Given the description of an element on the screen output the (x, y) to click on. 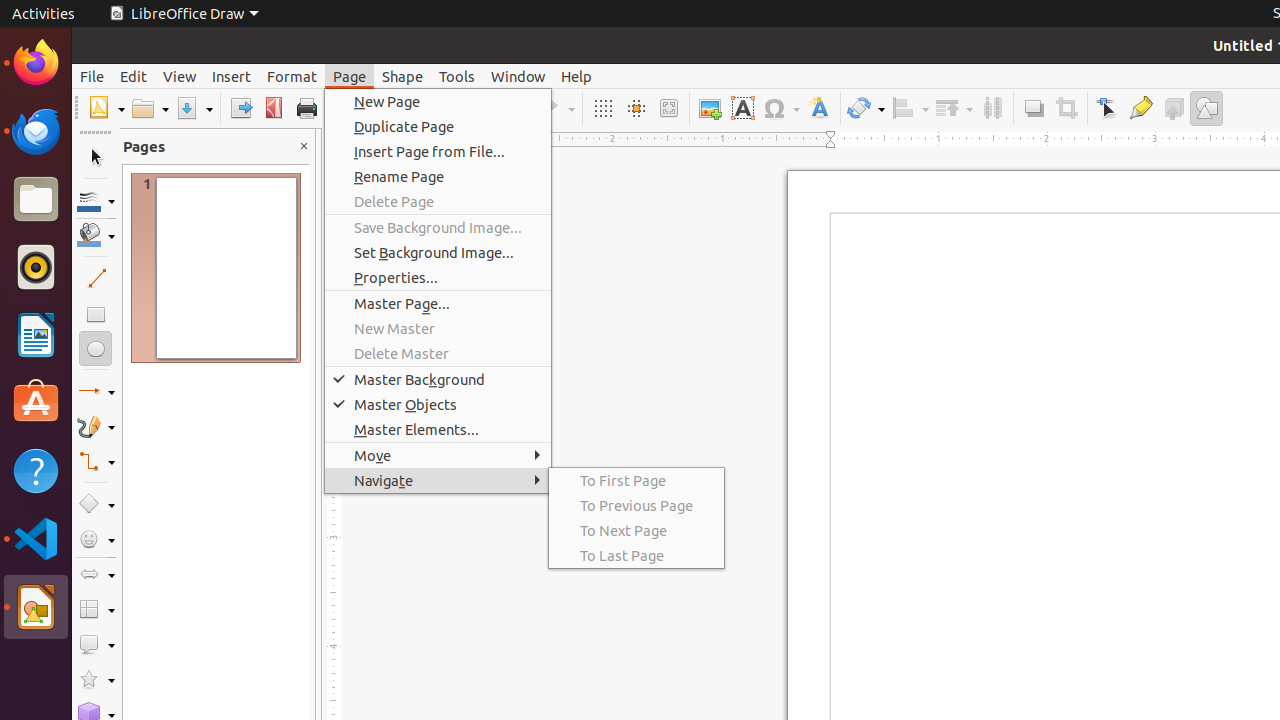
To First Page Element type: menu-item (636, 480)
Close Pane Element type: push-button (303, 146)
Export Element type: push-button (240, 108)
Shape Element type: menu (402, 76)
Rename Page Element type: menu-item (438, 176)
